Given the description of an element on the screen output the (x, y) to click on. 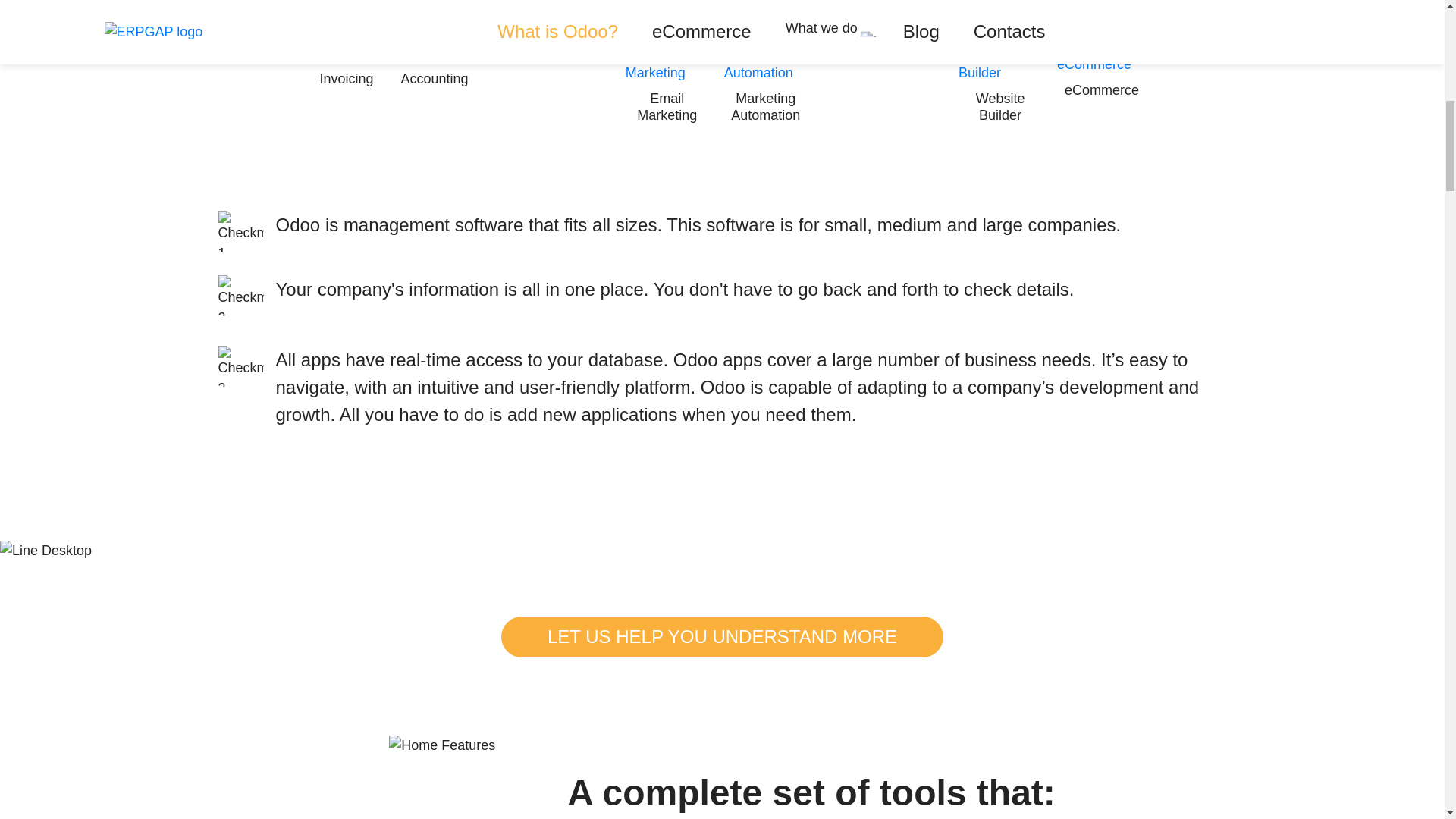
LET US HELP YOU UNDERSTAND MORE (721, 636)
